Given the description of an element on the screen output the (x, y) to click on. 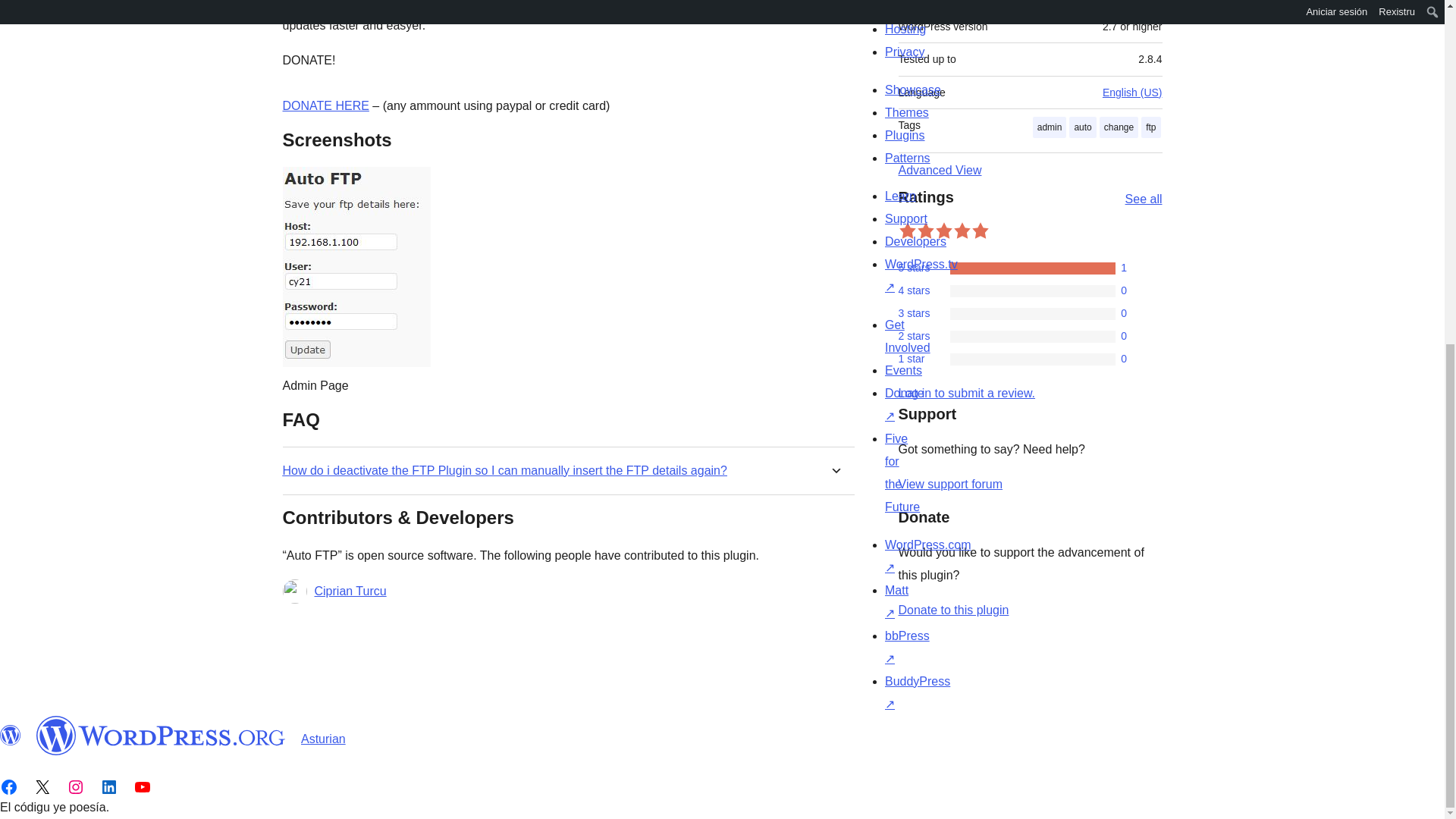
Ciprian Turcu (349, 590)
Log in to WordPress.org (966, 392)
WordPress.org (160, 735)
WordPress.org (10, 735)
DONATE HERE (325, 105)
